Given the description of an element on the screen output the (x, y) to click on. 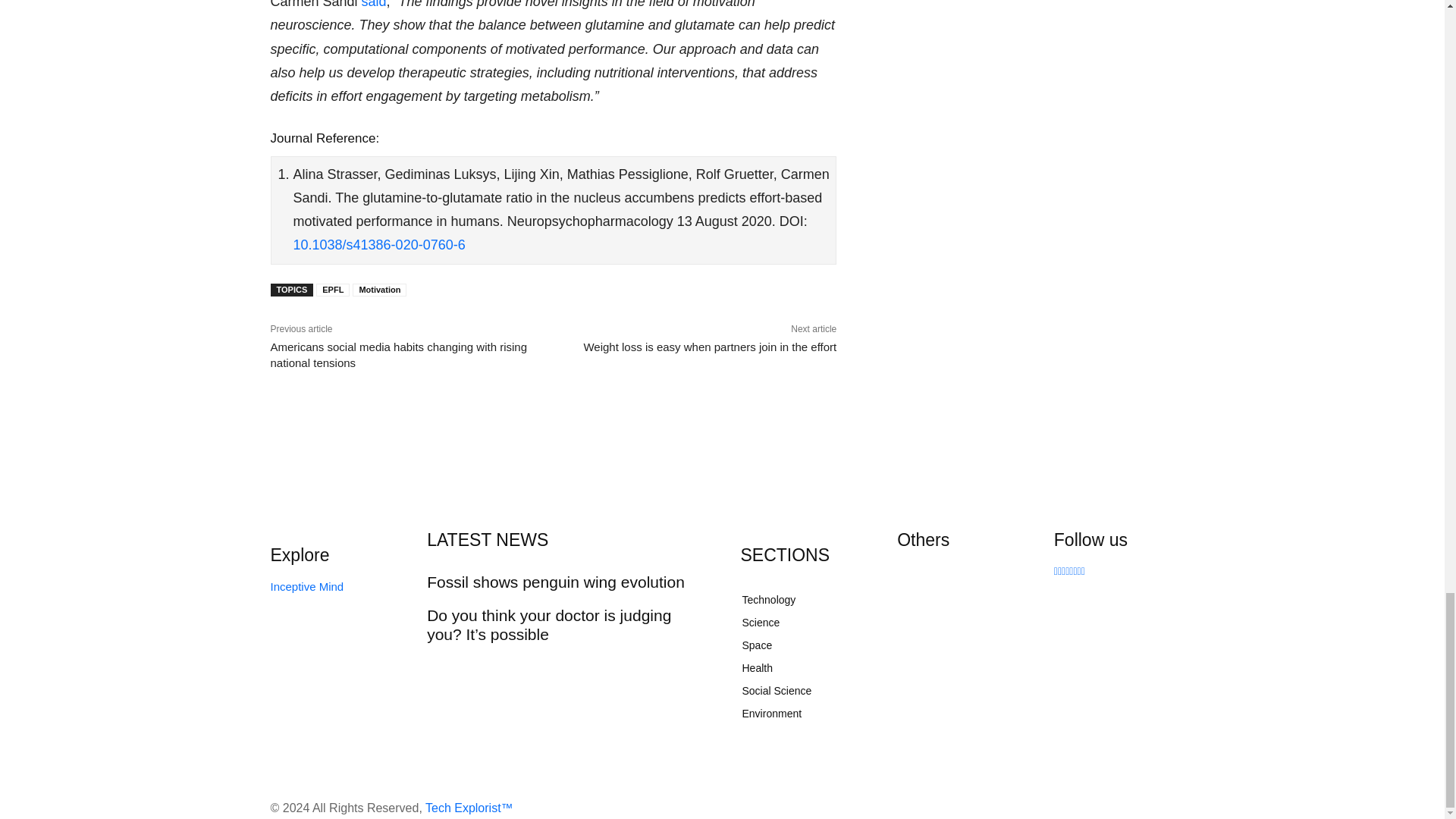
said (374, 4)
